Given the description of an element on the screen output the (x, y) to click on. 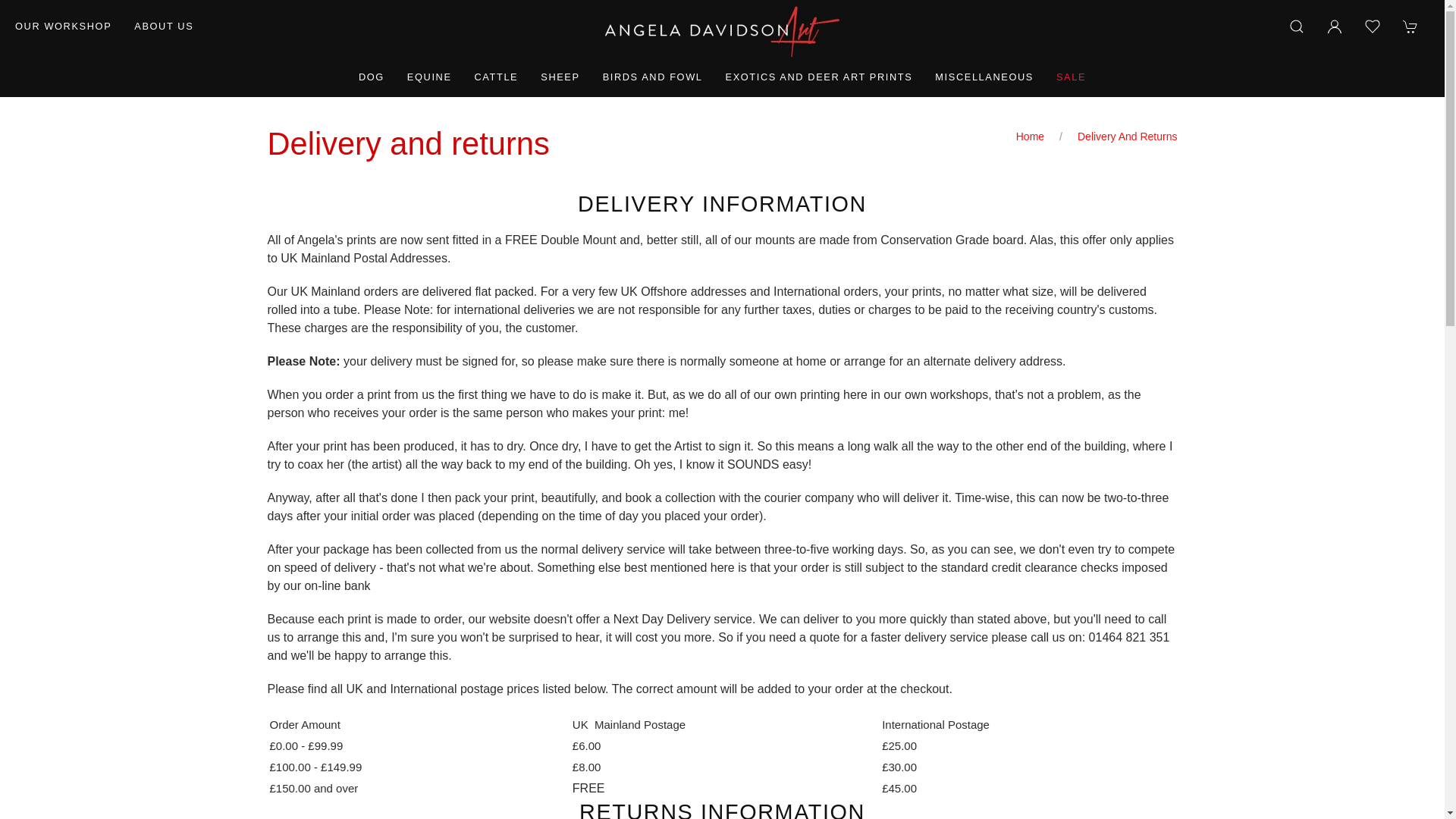
SALE (1071, 77)
Add products to cart (1410, 26)
Add to wishlist (1372, 26)
Visit Angela Davidson Art (63, 26)
Home (1029, 136)
Login to your account (1335, 26)
Angela Davidson Art (721, 31)
About Angela Davidson Art (163, 26)
ABOUT US (163, 26)
DOG (371, 77)
BIRDS AND FOWL (652, 77)
SHEEP (560, 77)
Delivery And Returns (1127, 136)
CATTLE (496, 77)
EXOTICS AND DEER ART PRINTS (819, 77)
